Given the description of an element on the screen output the (x, y) to click on. 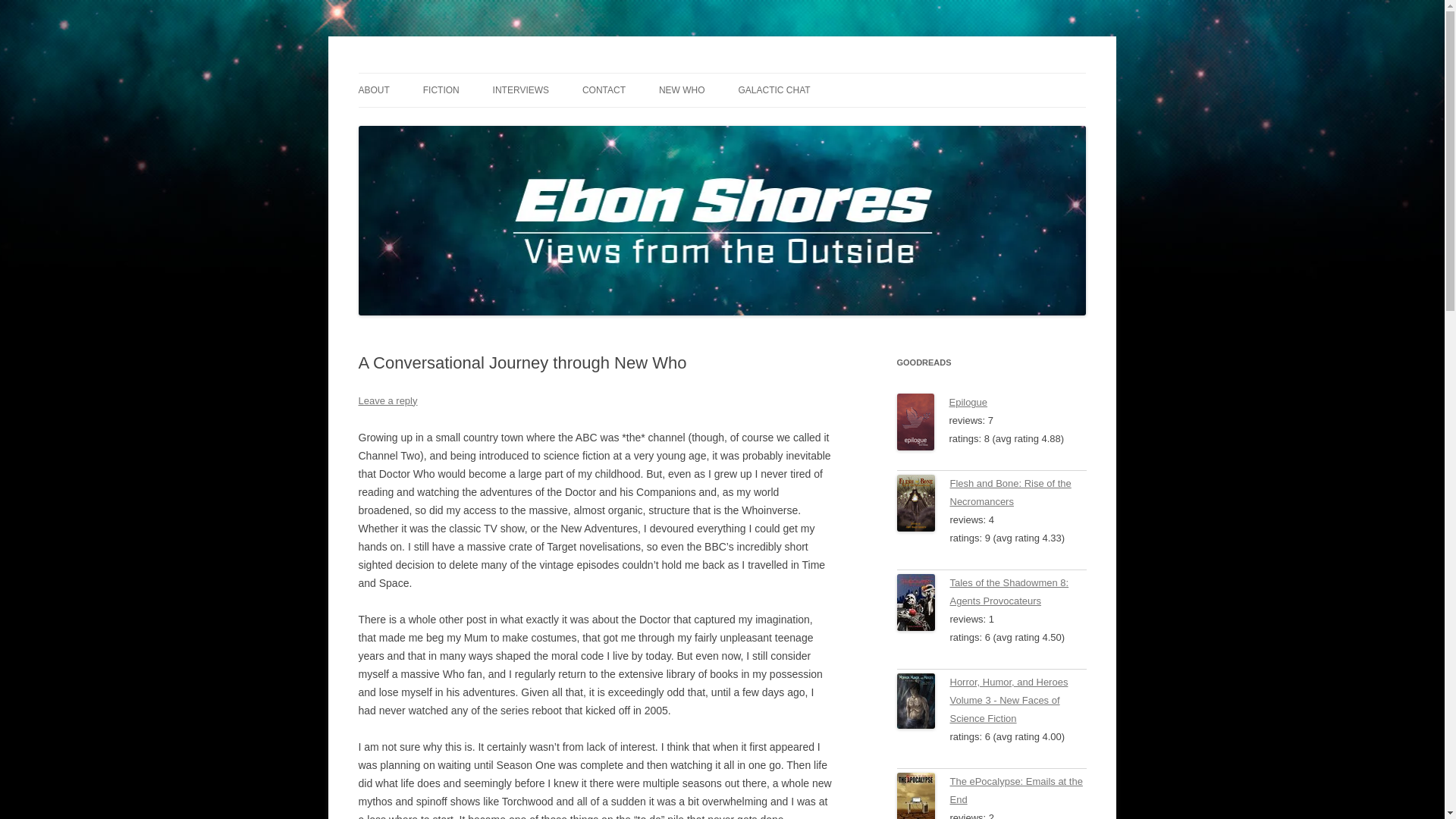
FICTION (441, 90)
GALACTIC CHAT (773, 90)
The ePocalypse: Emails at the End (1015, 790)
NEW WHO (681, 90)
CONTACT (604, 90)
Ebon Shores (418, 72)
Tales of the Shadowmen 8: Agents Provocateurs (1008, 591)
Epilogue (968, 401)
Flesh and Bone: Rise of the Necromancers (1009, 491)
The ePocalypse: Emails at the End (922, 796)
